Given the description of an element on the screen output the (x, y) to click on. 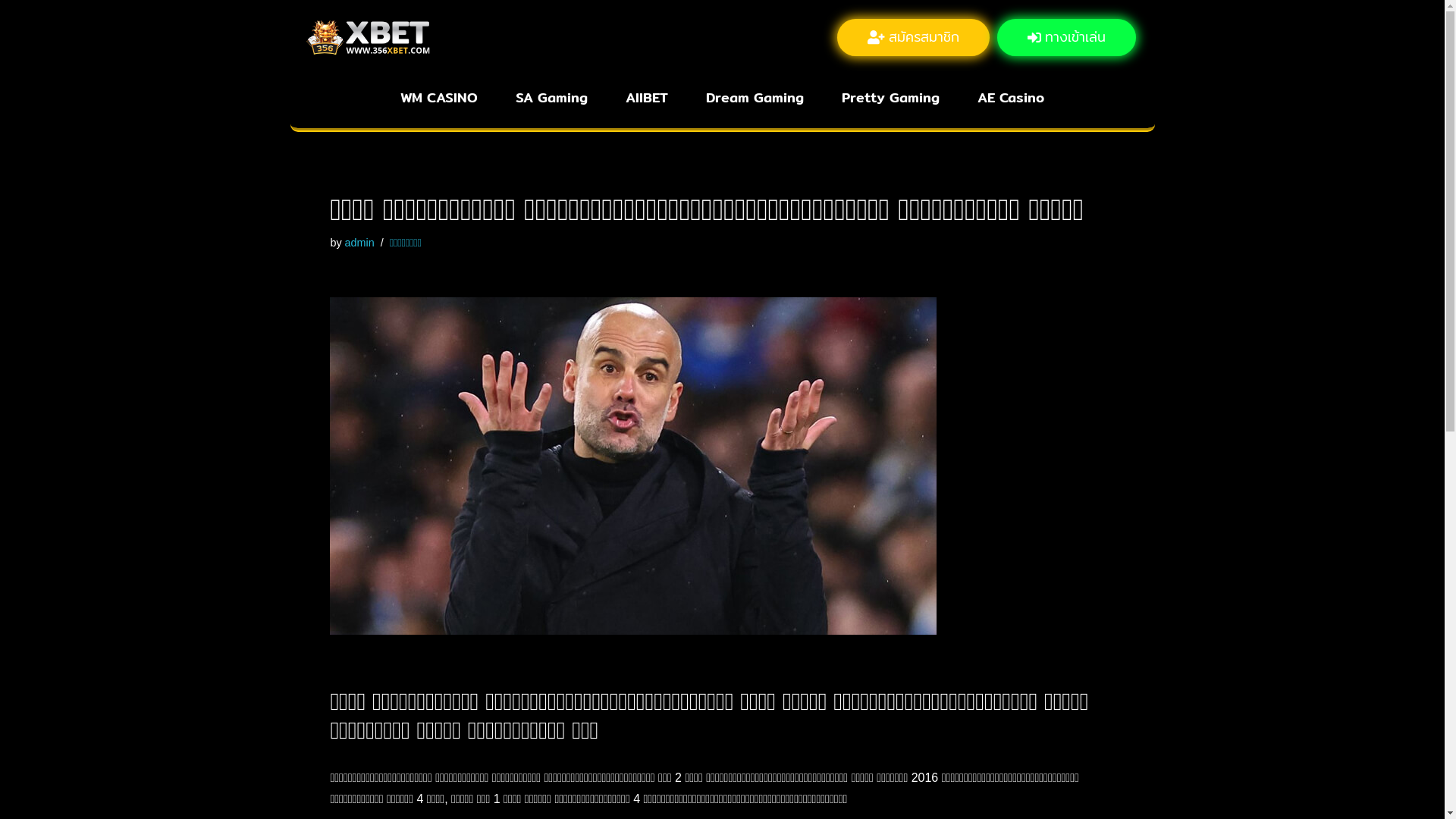
AE Casino Element type: text (1010, 97)
Skip to content Element type: text (11, 31)
Dream Gaming Element type: text (754, 97)
Pretty Gaming Element type: text (890, 97)
AllBET Element type: text (646, 97)
WM CASINO Element type: text (438, 97)
admin Element type: text (359, 242)
SA Gaming Element type: text (551, 97)
